Given the description of an element on the screen output the (x, y) to click on. 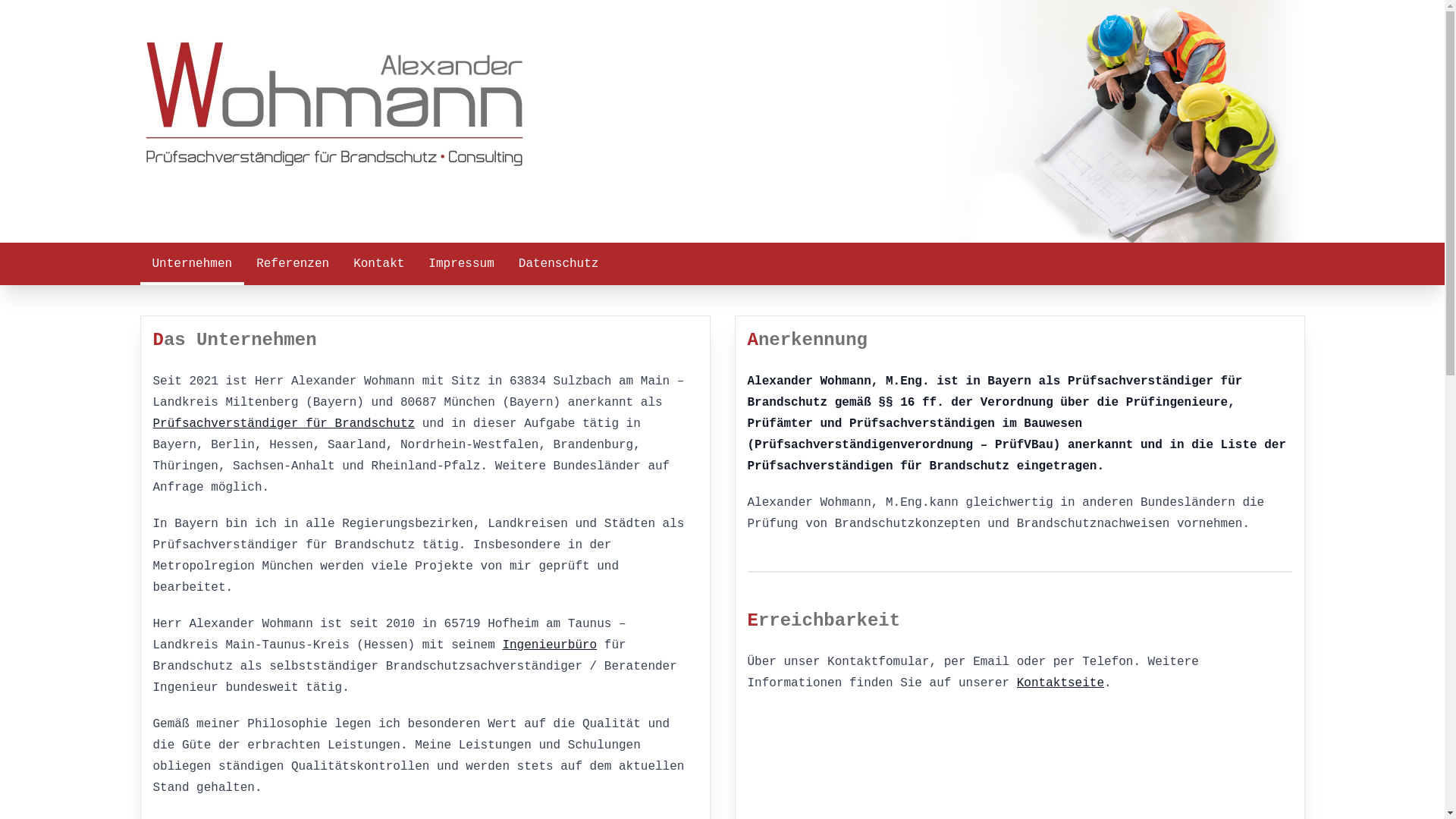
Datenschutz Element type: text (558, 263)
Kontakt Element type: text (378, 263)
Impressum Element type: text (460, 263)
Referenzen Element type: text (292, 263)
Kontaktseite Element type: text (1060, 683)
Unternehmen Element type: text (191, 263)
